Given the description of an element on the screen output the (x, y) to click on. 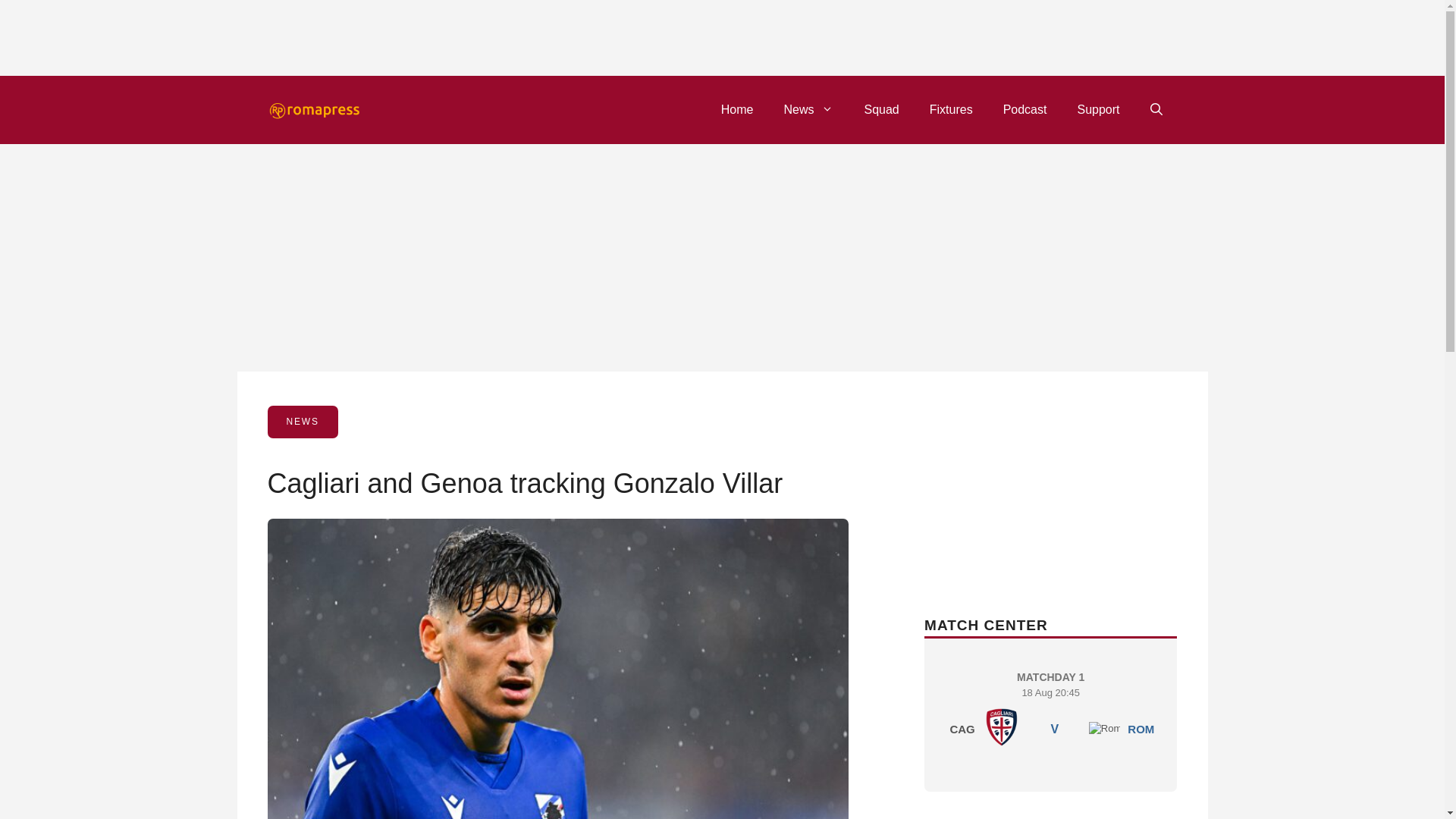
Fixtures (951, 109)
Home (737, 109)
News (1050, 710)
Squad (808, 109)
Roma (881, 109)
ROM (1105, 728)
Support (1140, 728)
Cagliari (1097, 109)
Podcast (1001, 727)
